Given the description of an element on the screen output the (x, y) to click on. 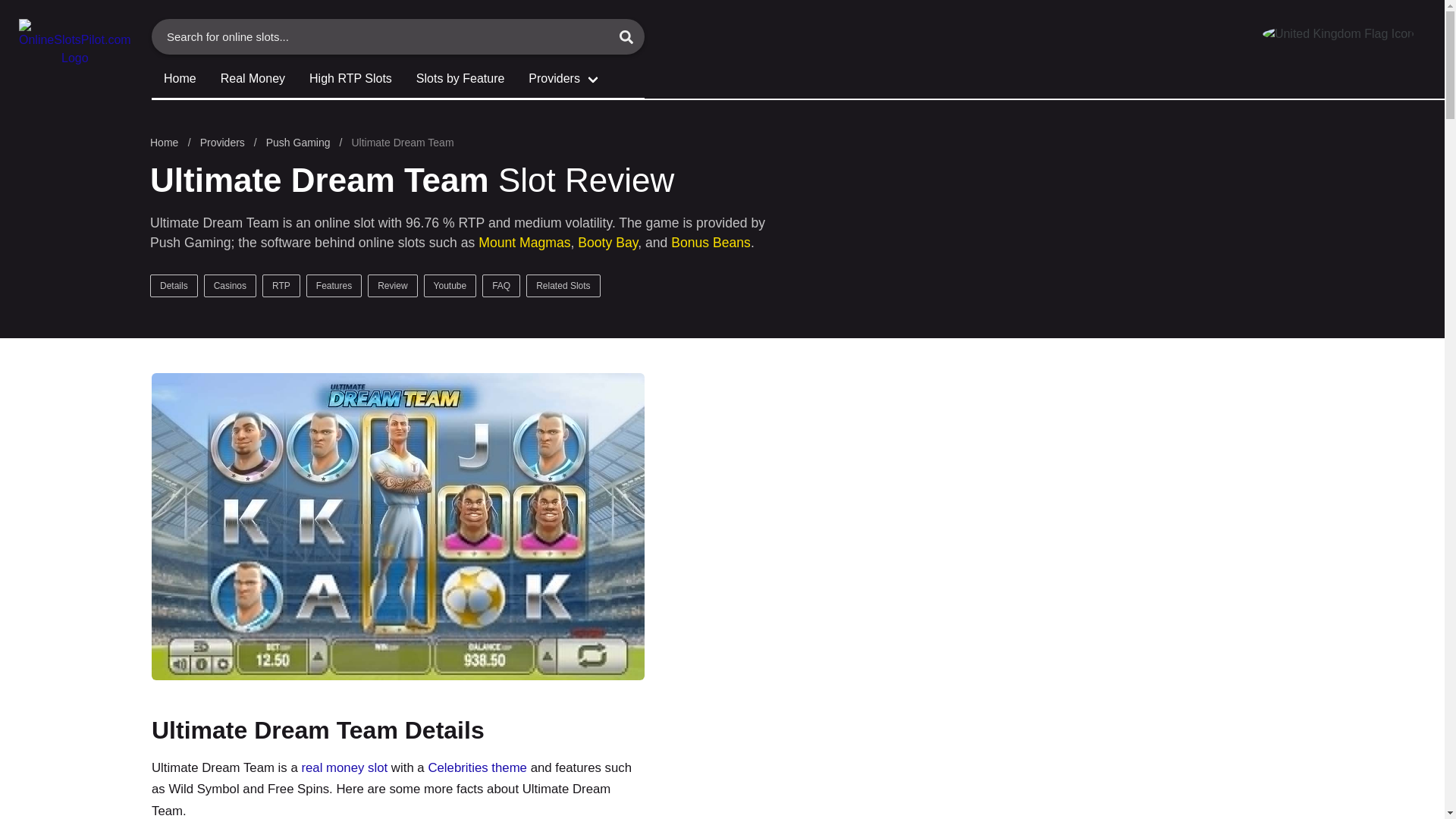
Related Slots (562, 285)
Review (392, 285)
RTP (281, 285)
High RTP Slots (350, 80)
Youtube (450, 285)
Slots by Feature (460, 80)
Ultimate Dream Team (402, 142)
real money slot (344, 767)
FAQ (501, 285)
Push Gaming (298, 142)
Details (173, 285)
Real Money (252, 80)
Bonus Beans (711, 242)
Celebrities theme (477, 767)
Home (179, 80)
